Given the description of an element on the screen output the (x, y) to click on. 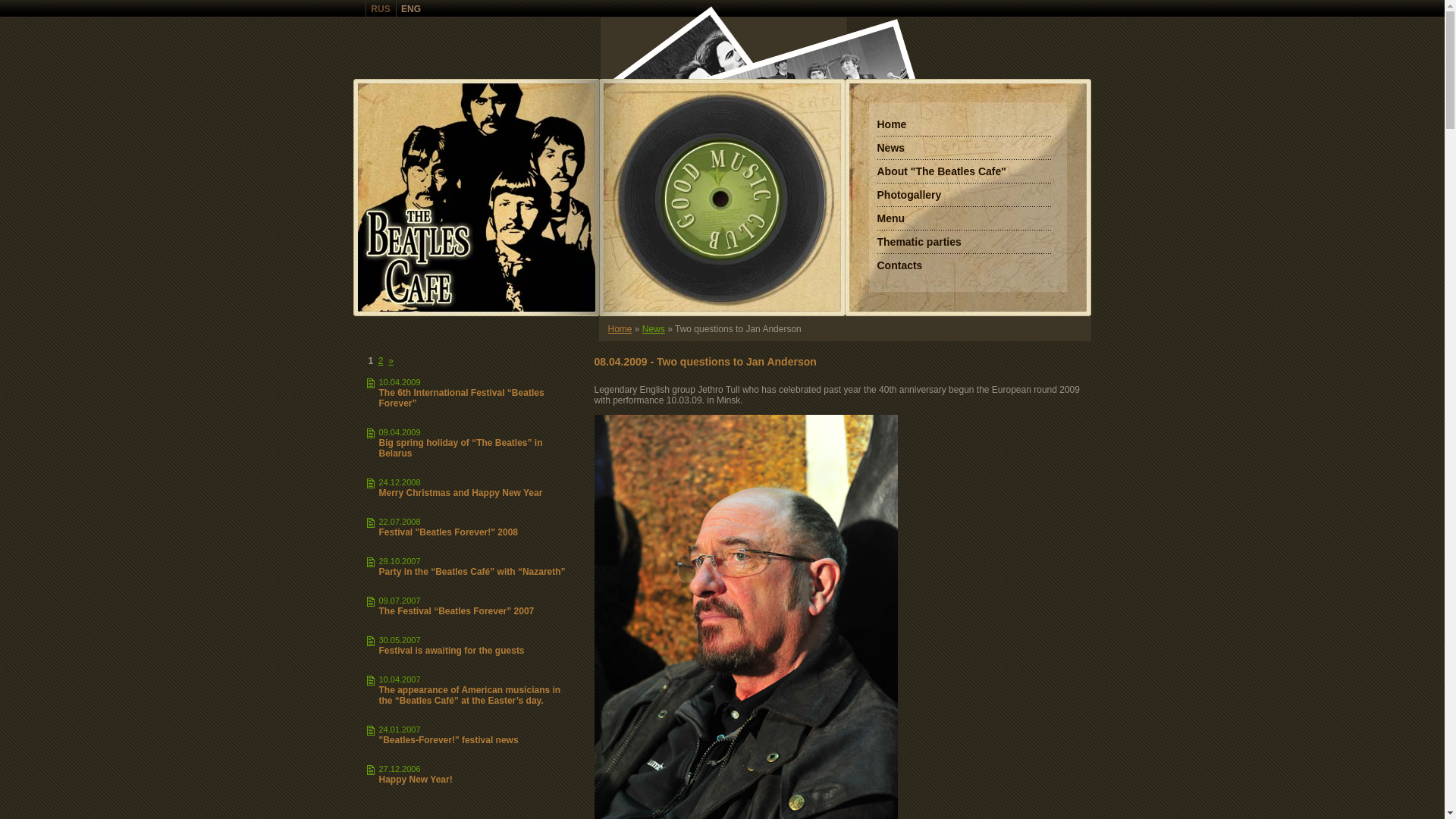
Home Element type: text (620, 328)
"Beatles-Forever!" festival news Element type: text (448, 739)
News Element type: text (653, 328)
RUS Element type: text (379, 8)
Menu Element type: text (890, 218)
News Element type: text (890, 147)
Merry Christmas and Happy New Year Element type: text (460, 492)
Contacts Element type: text (899, 265)
Happy New Year! Element type: text (415, 779)
Festival "Beatles Forever!" 2008 Element type: text (448, 532)
About "The Beatles Cafe" Element type: text (940, 171)
Festival is awaiting for the guests Element type: text (451, 650)
Thematic parties Element type: text (918, 241)
2 Element type: text (380, 360)
Photogallery Element type: text (908, 194)
Home Element type: text (891, 124)
